Given the description of an element on the screen output the (x, y) to click on. 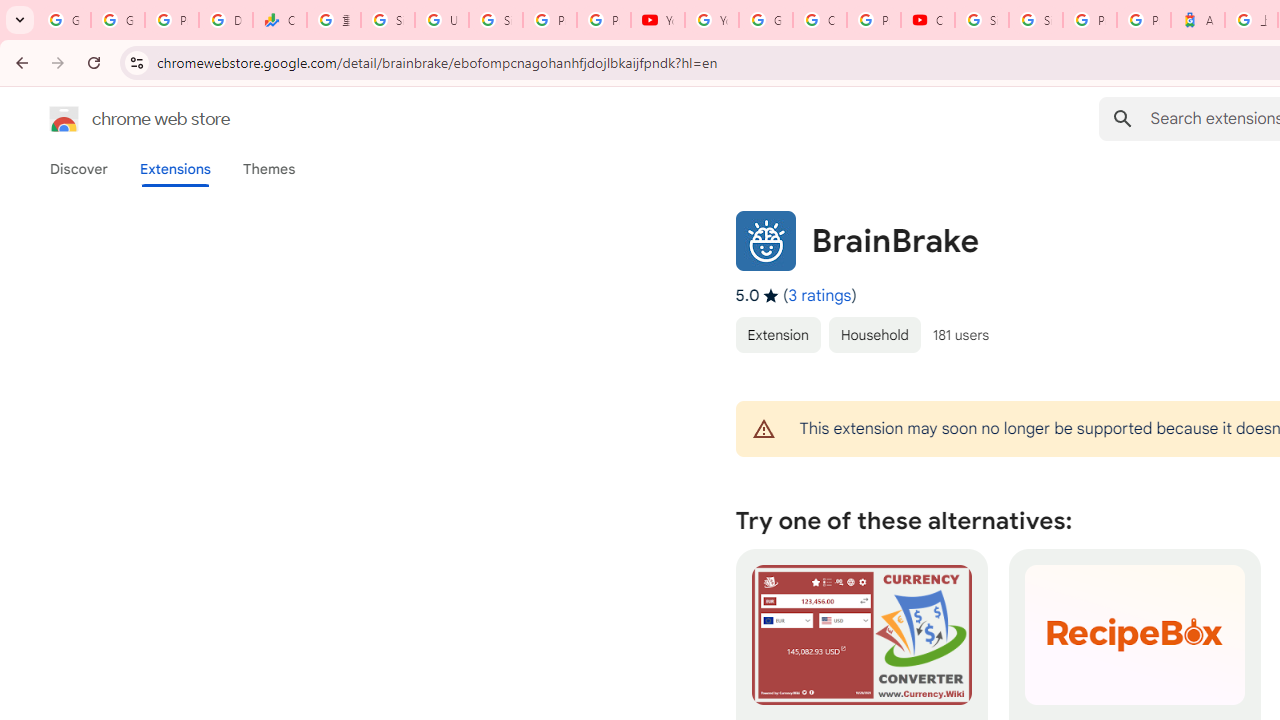
Sign in - Google Accounts (387, 20)
Atour Hotel - Google hotels (1197, 20)
Sign in - Google Accounts (1035, 20)
Sign in - Google Accounts (981, 20)
Item logo image for BrainBrake (765, 240)
YouTube (657, 20)
Household (874, 334)
